Given the description of an element on the screen output the (x, y) to click on. 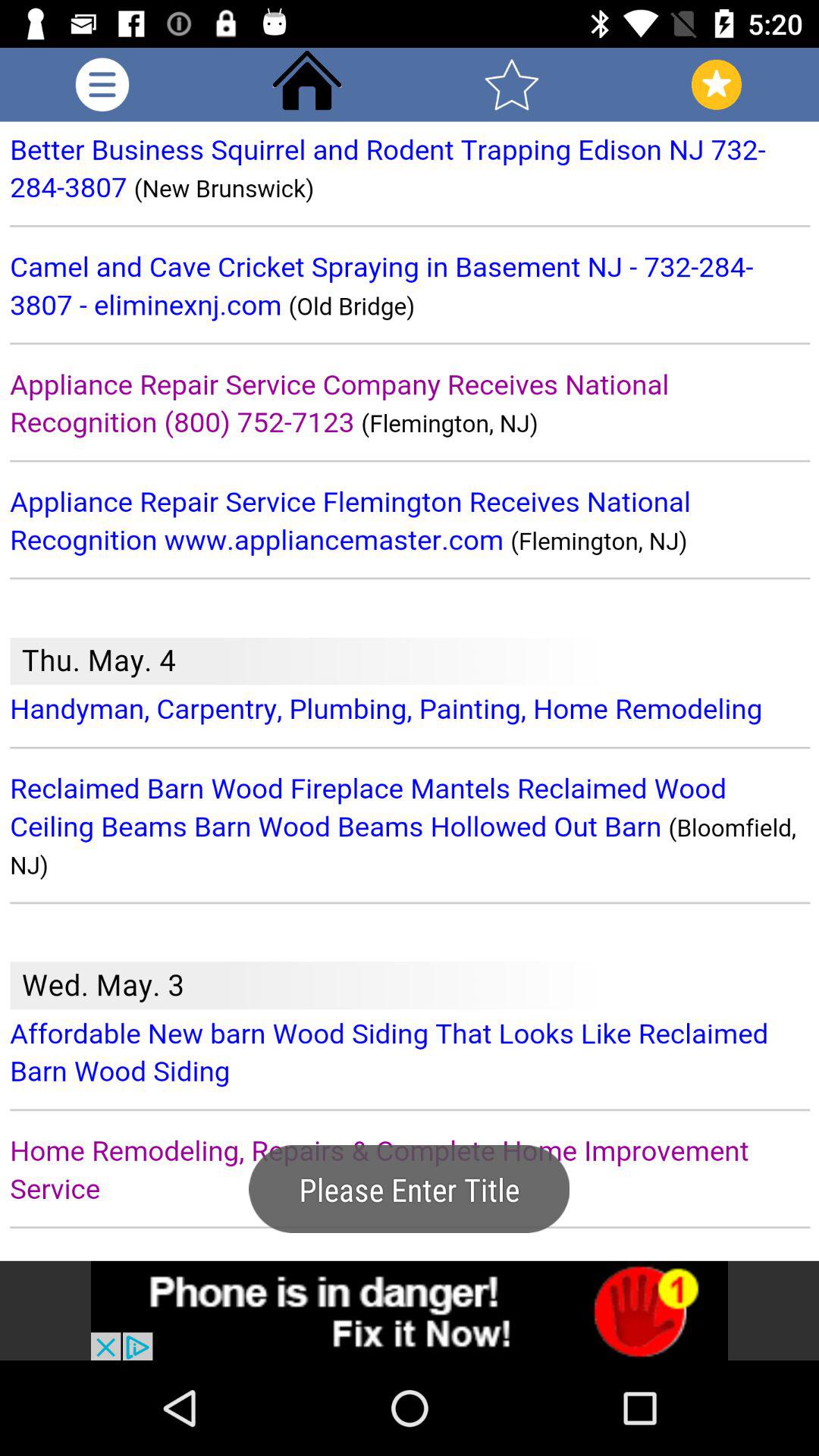
advertisement (409, 1310)
